Given the description of an element on the screen output the (x, y) to click on. 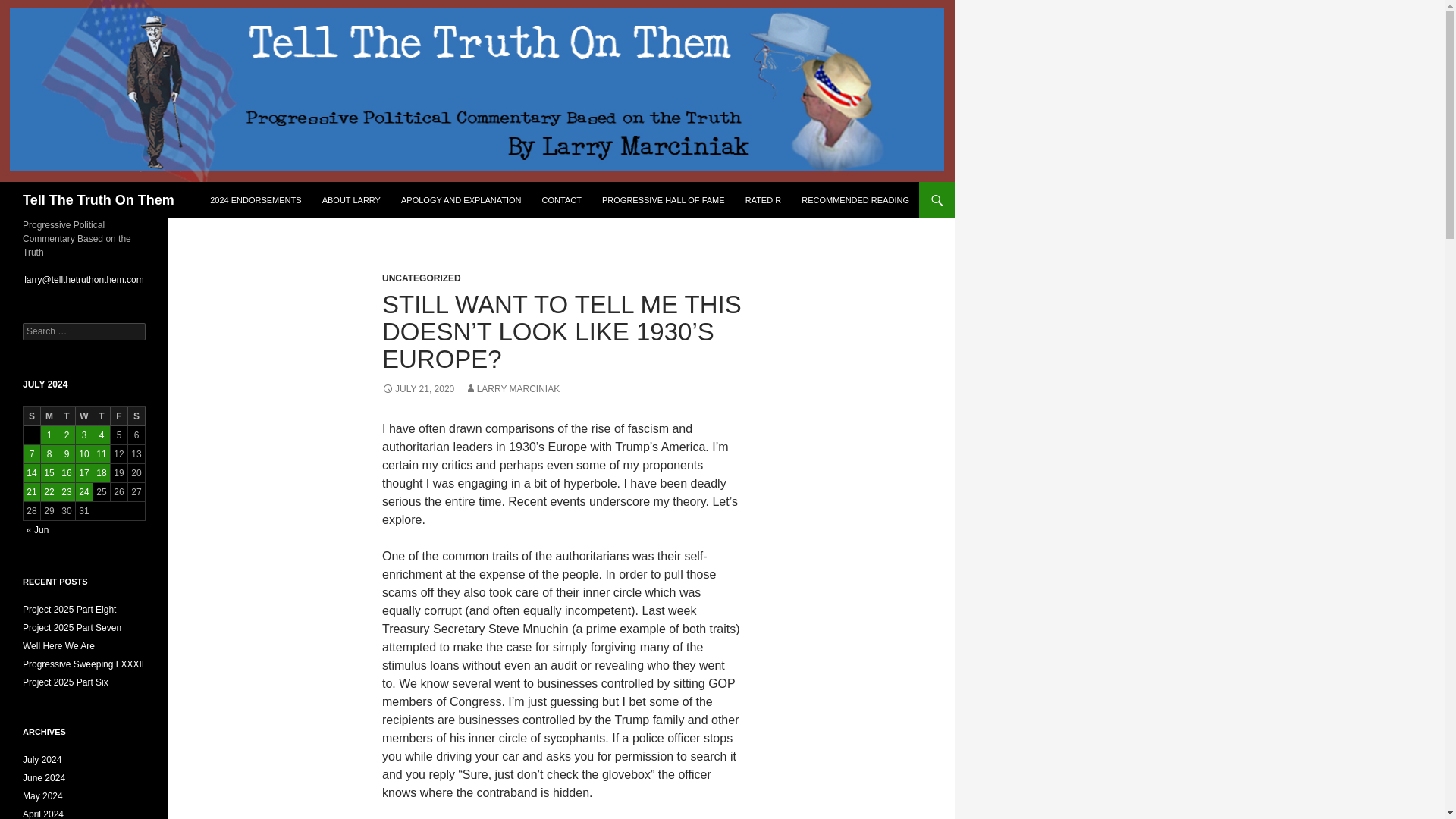
ABOUT LARRY (351, 199)
Monday (49, 416)
Sunday (31, 416)
Tell The Truth On Them (98, 199)
Friday (119, 416)
Wednesday (84, 416)
Thursday (101, 416)
Saturday (136, 416)
UNCATEGORIZED (421, 277)
LARRY MARCINIAK (512, 388)
CONTACT (561, 199)
JULY 21, 2020 (417, 388)
Tuesday (66, 416)
APOLOGY AND EXPLANATION (461, 199)
